Given the description of an element on the screen output the (x, y) to click on. 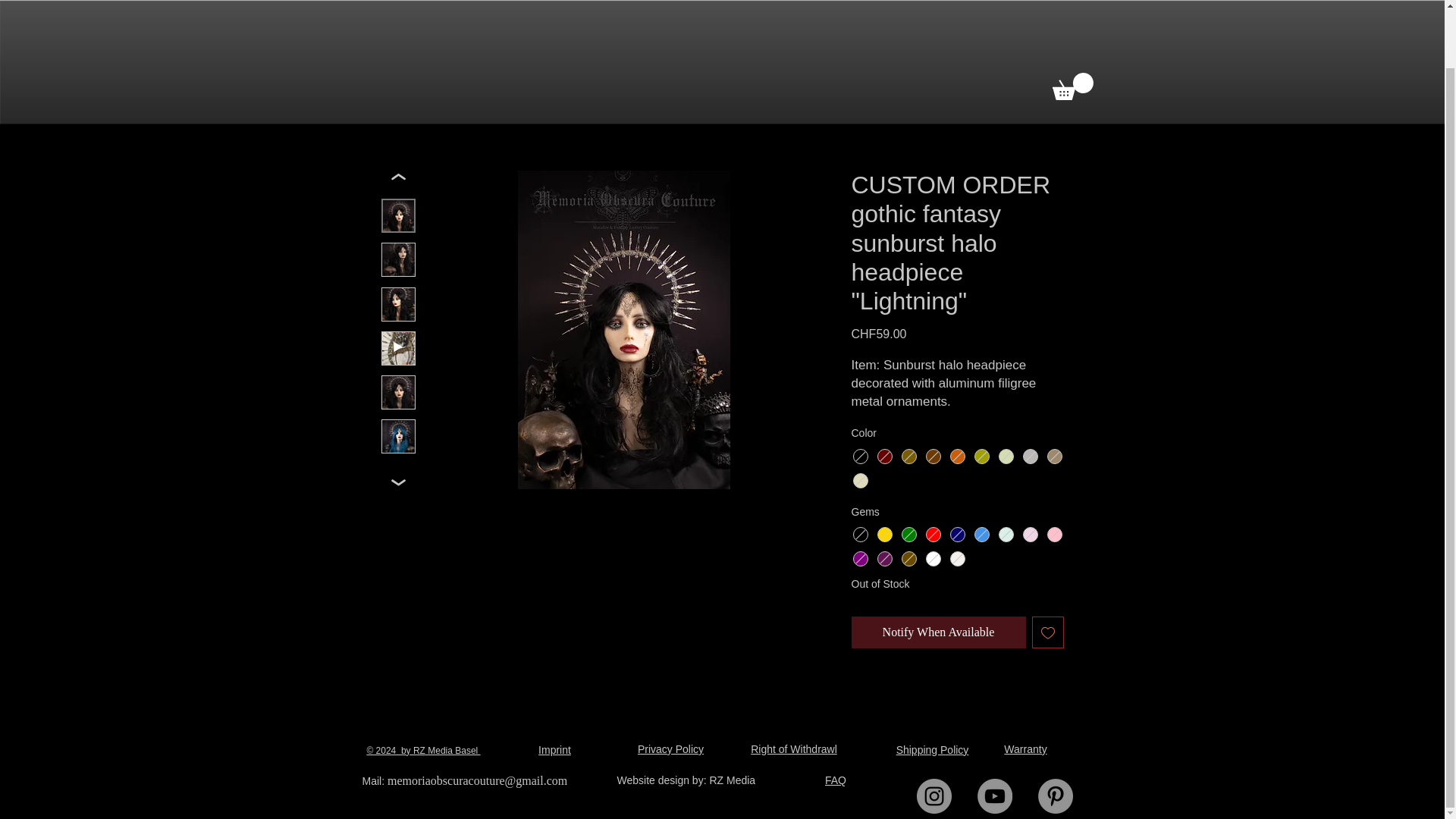
Warranty (1025, 748)
Shipping Policy (932, 749)
Privacy Policy (670, 748)
Right of Withdrawl (794, 748)
Notify When Available (937, 632)
FAQ (835, 779)
Imprint (554, 749)
